Given the description of an element on the screen output the (x, y) to click on. 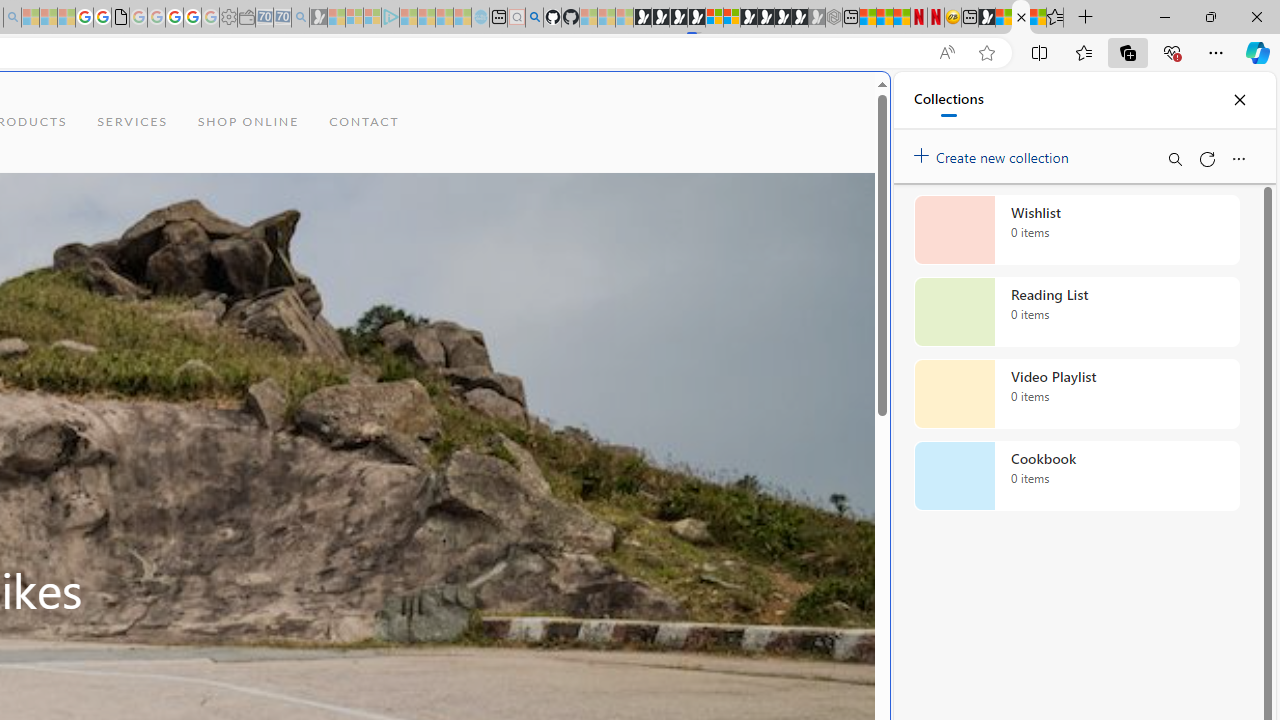
Wishlist collection, 0 items (1076, 229)
More options menu (1238, 158)
Reading List collection, 0 items (1076, 312)
github - Search (534, 17)
